Given the description of an element on the screen output the (x, y) to click on. 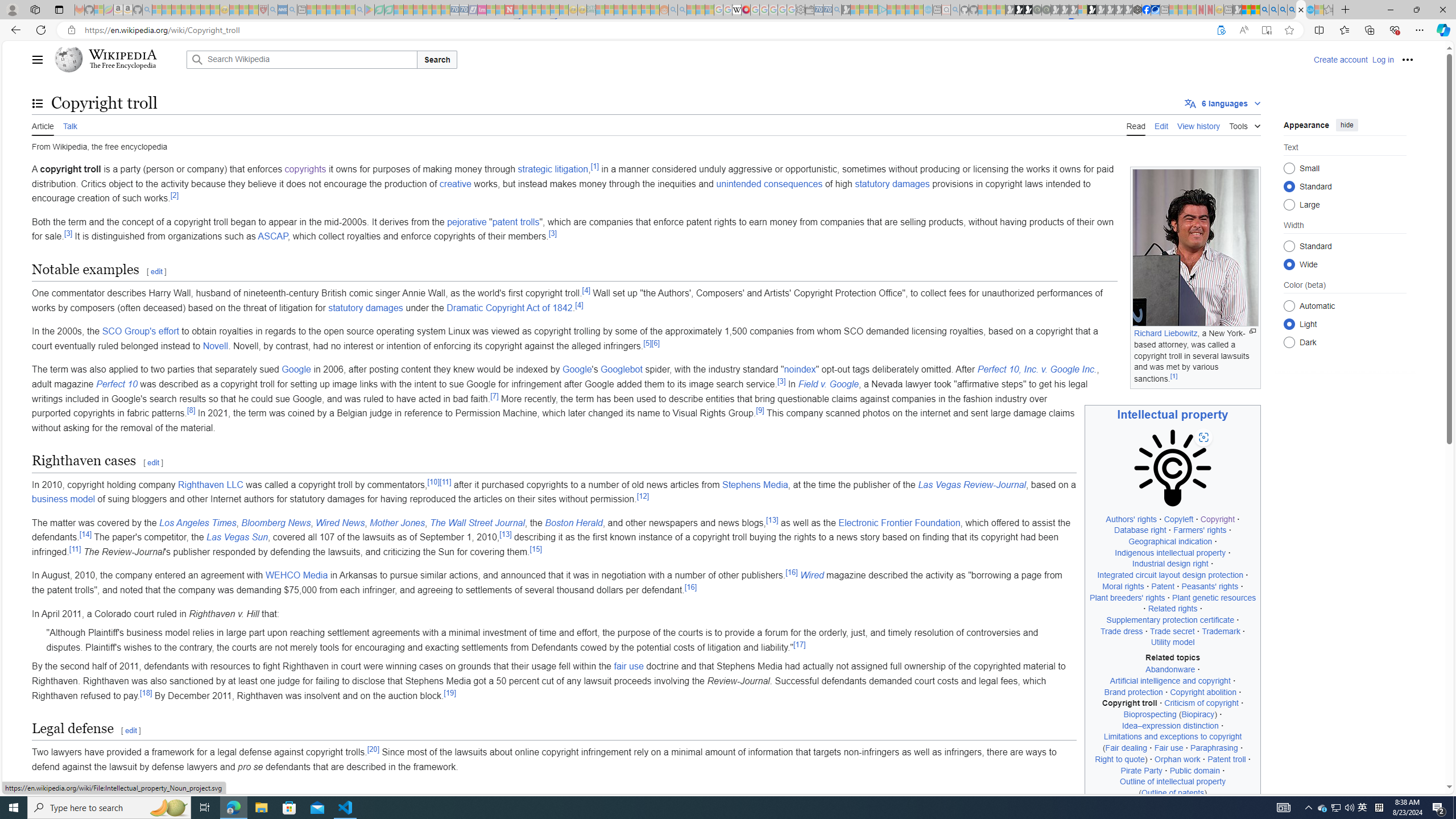
Nordace | Facebook (1146, 9)
